Given the description of an element on the screen output the (x, y) to click on. 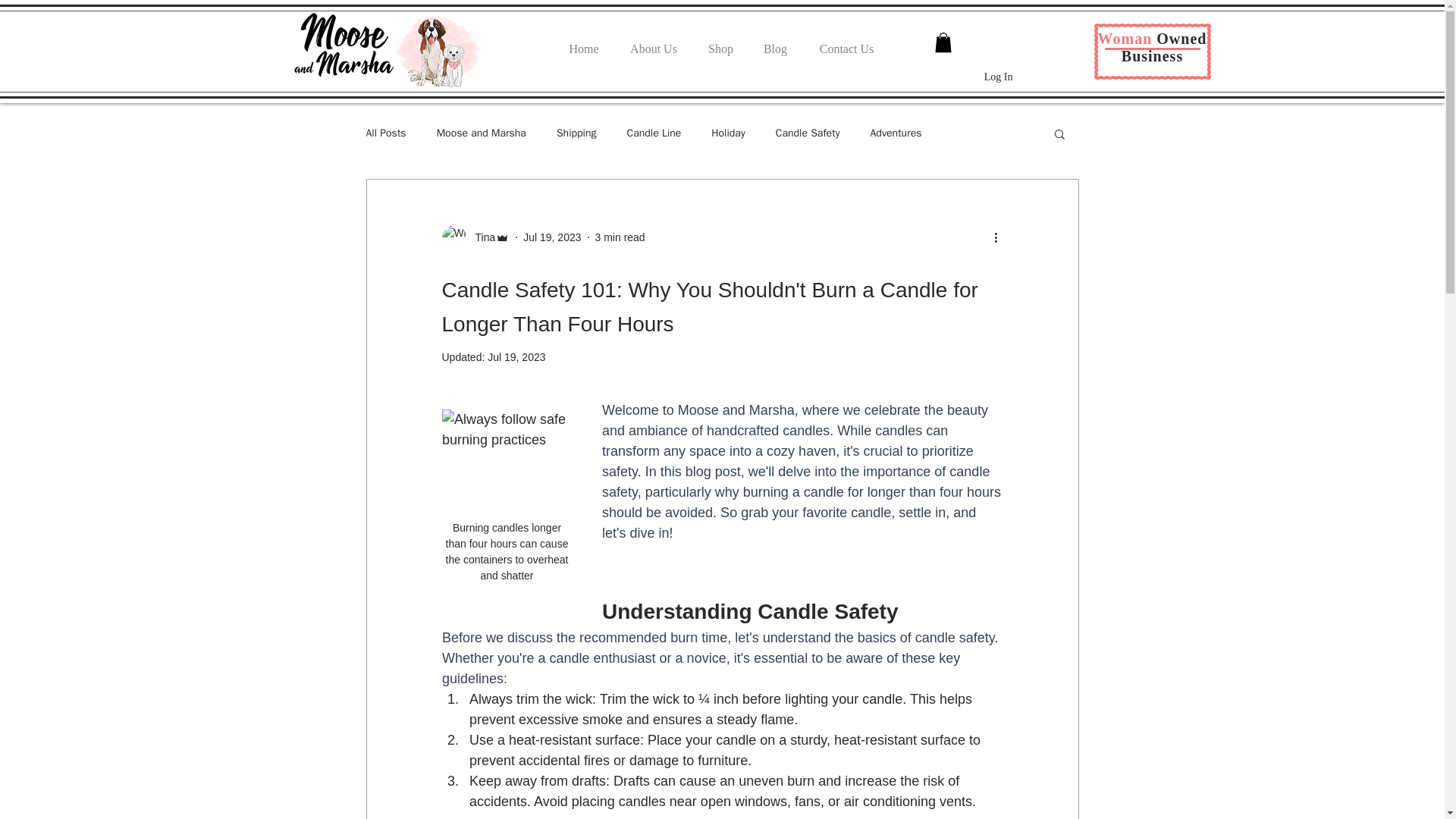
Blog (775, 42)
Candle Line (653, 133)
About Us (653, 42)
Adventures (895, 133)
Tina (480, 236)
Tina (475, 237)
Shipping (576, 133)
Jul 19, 2023 (515, 357)
Handcrafted Soy Candles (342, 45)
Holiday (727, 133)
